Given the description of an element on the screen output the (x, y) to click on. 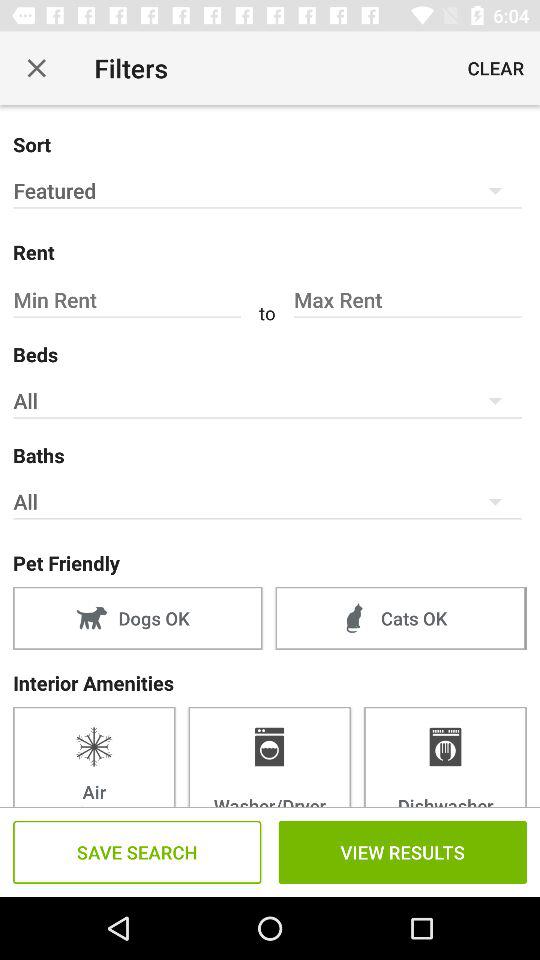
tap the air conditioning icon (94, 756)
